Given the description of an element on the screen output the (x, y) to click on. 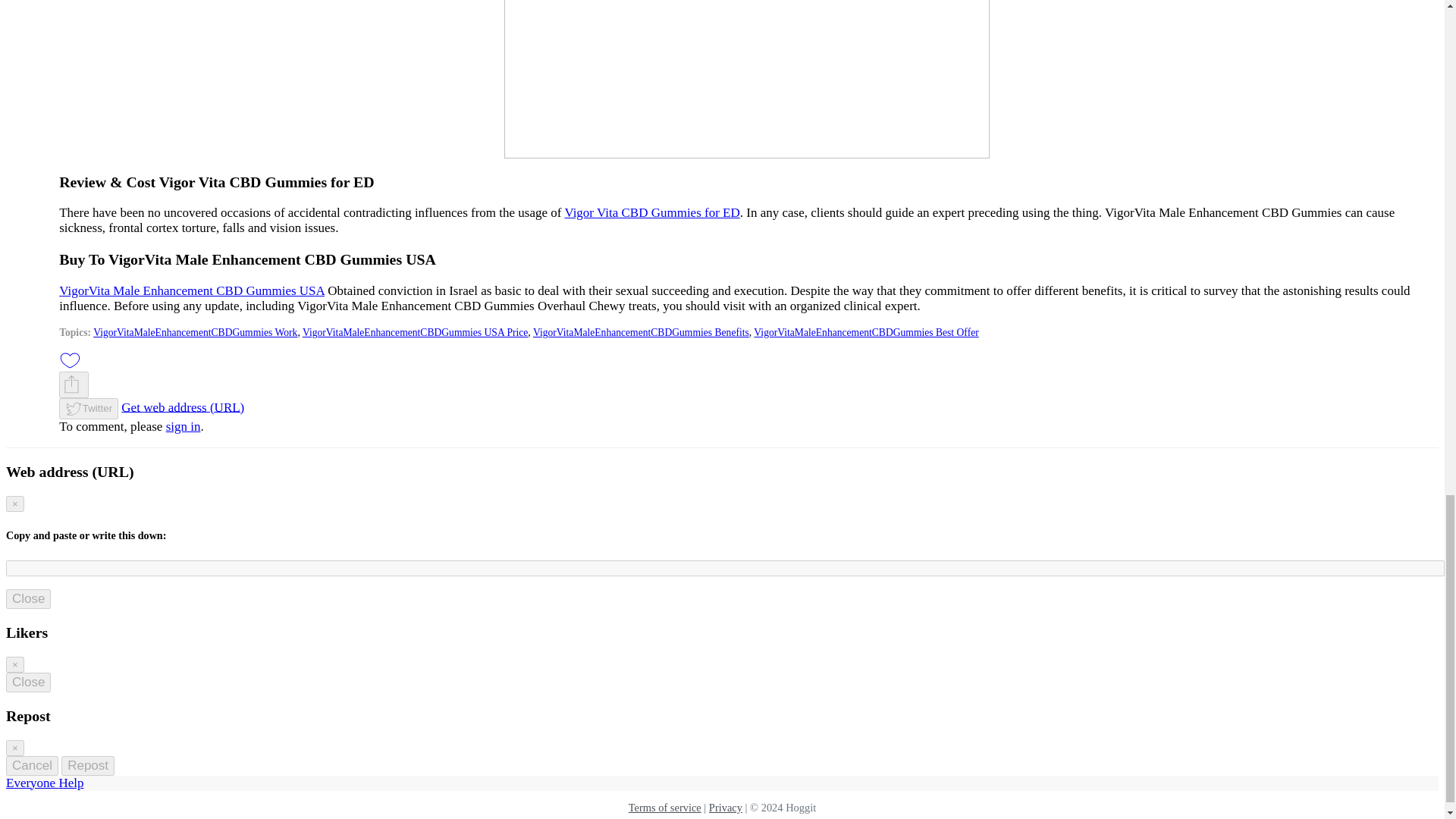
Like (70, 359)
Vigor Vita CBD Gummies for ED (651, 212)
Share (71, 384)
VigorVitaMaleEnhancementCBDGummies Benefits (640, 332)
VigorVita Male Enhancement CBD Gummies USA (191, 290)
VigorVitaMaleEnhancementCBDGummies Best Offer (866, 332)
Like (70, 360)
VigorVitaMaleEnhancementCBDGummies USA Price (414, 332)
sign in (182, 426)
Close (27, 598)
Share (73, 384)
Twitter (88, 408)
VigorVitaMaleEnhancementCBDGummies Work (195, 332)
